Given the description of an element on the screen output the (x, y) to click on. 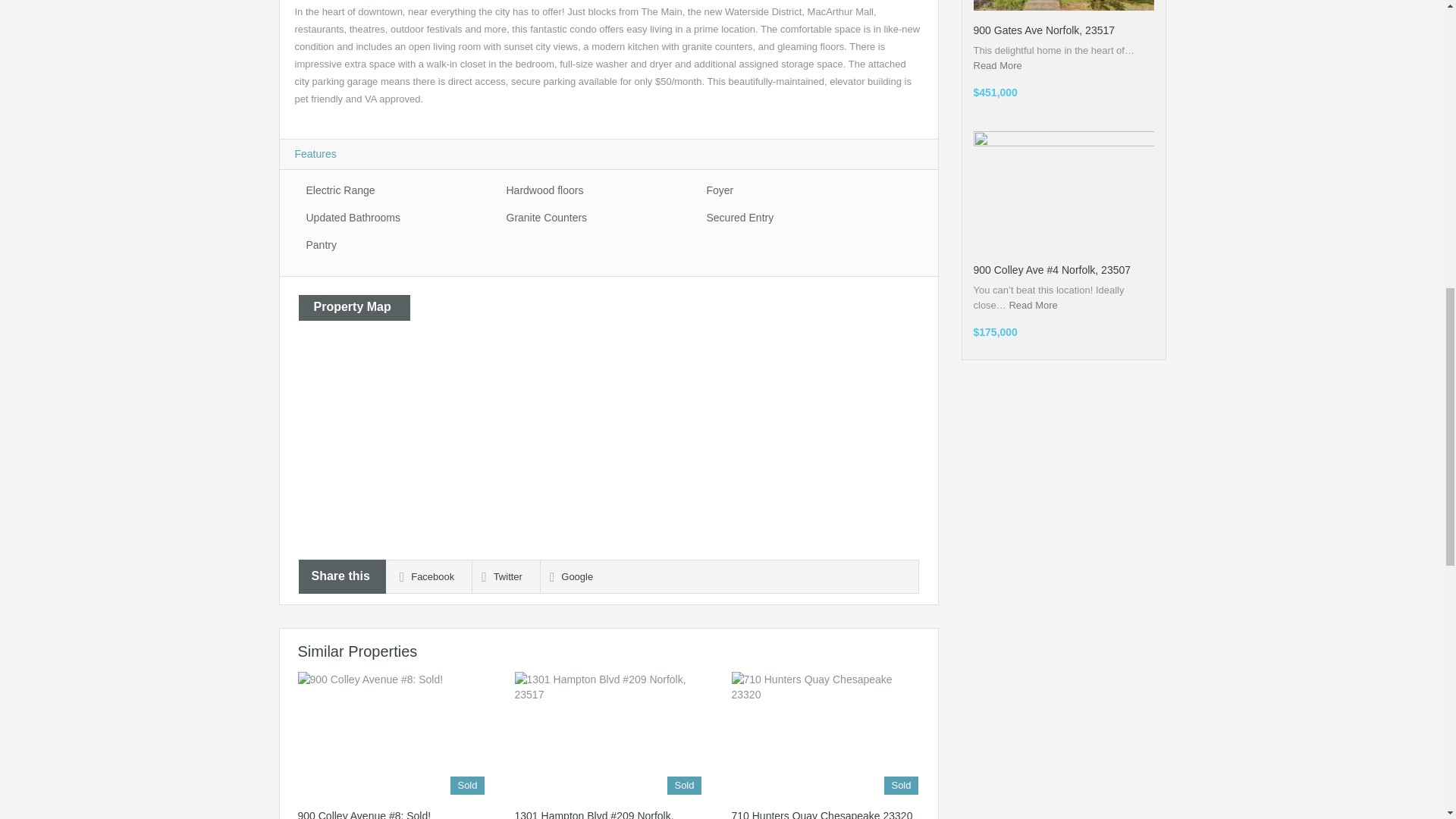
710 Hunters Quay  Chesapeake 23320 (823, 732)
900 Gates Ave  Norfolk, 23517 (1044, 30)
710 Hunters Quay  Chesapeake 23320 (821, 814)
